Given the description of an element on the screen output the (x, y) to click on. 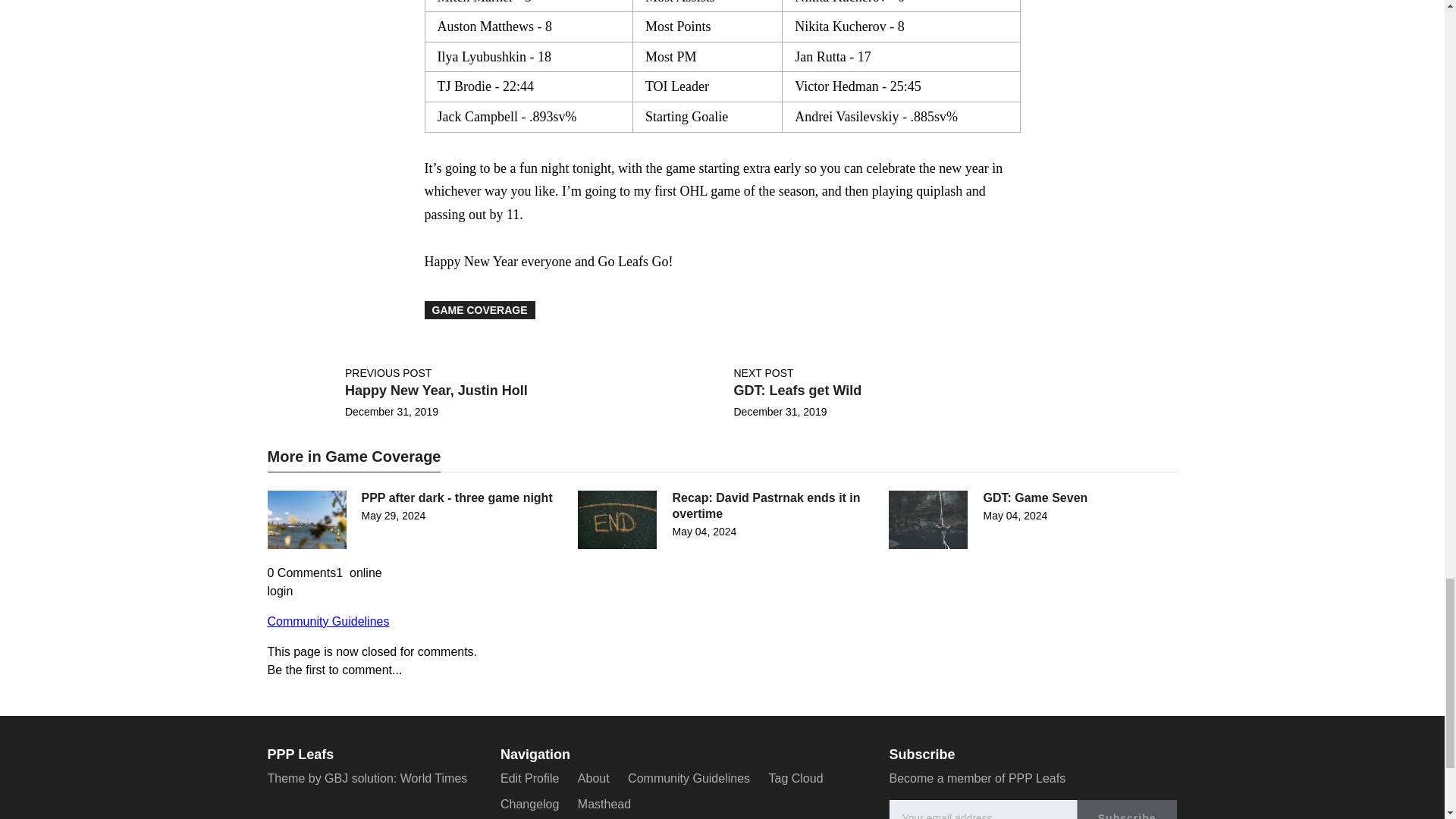
29 May, 2024 (393, 515)
31 December, 2019 (780, 411)
31 December, 2019 (391, 411)
04 May, 2024 (703, 530)
04 May, 2024 (1014, 515)
